Given the description of an element on the screen output the (x, y) to click on. 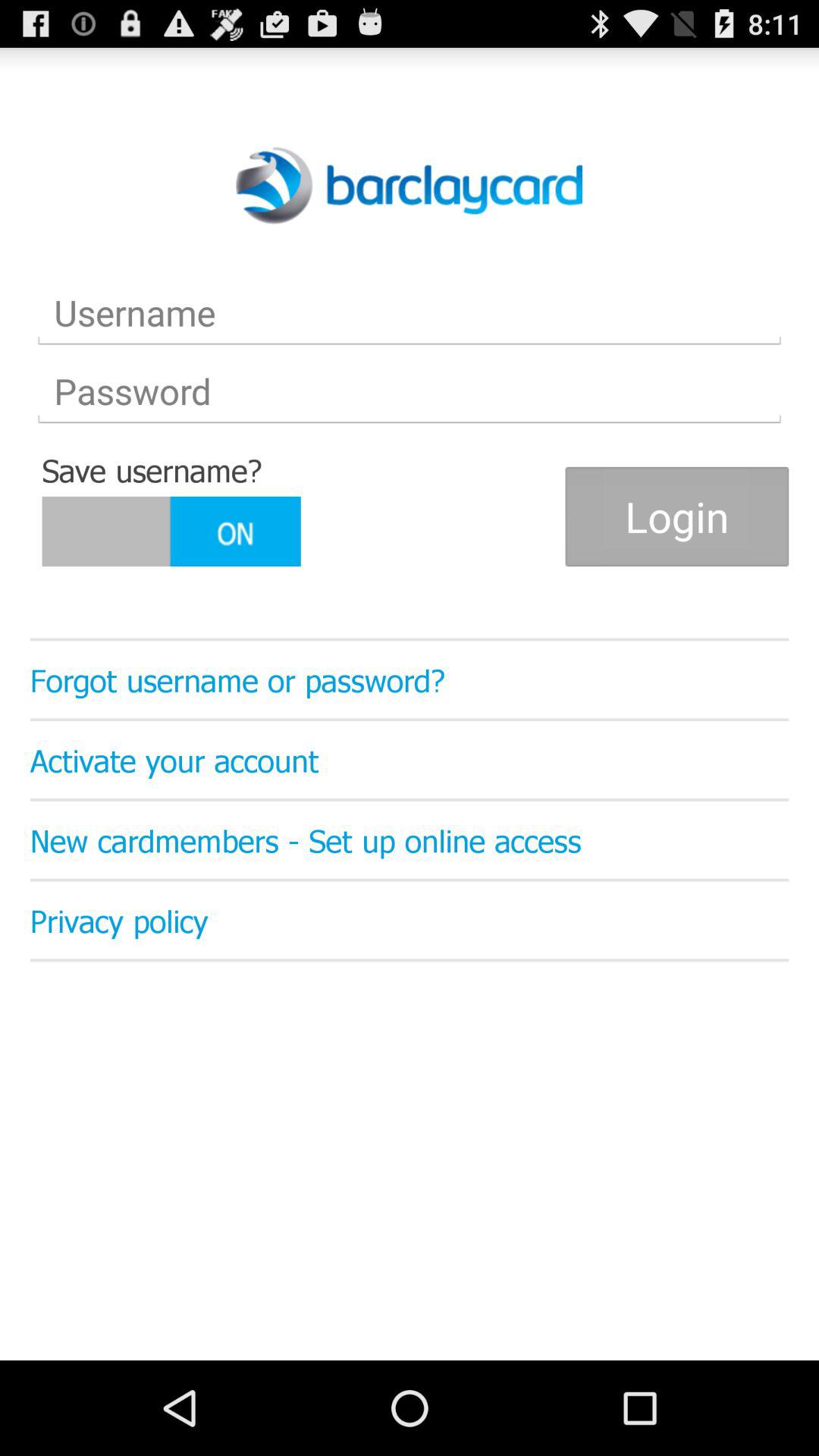
click new cardmembers set icon (409, 839)
